Given the description of an element on the screen output the (x, y) to click on. 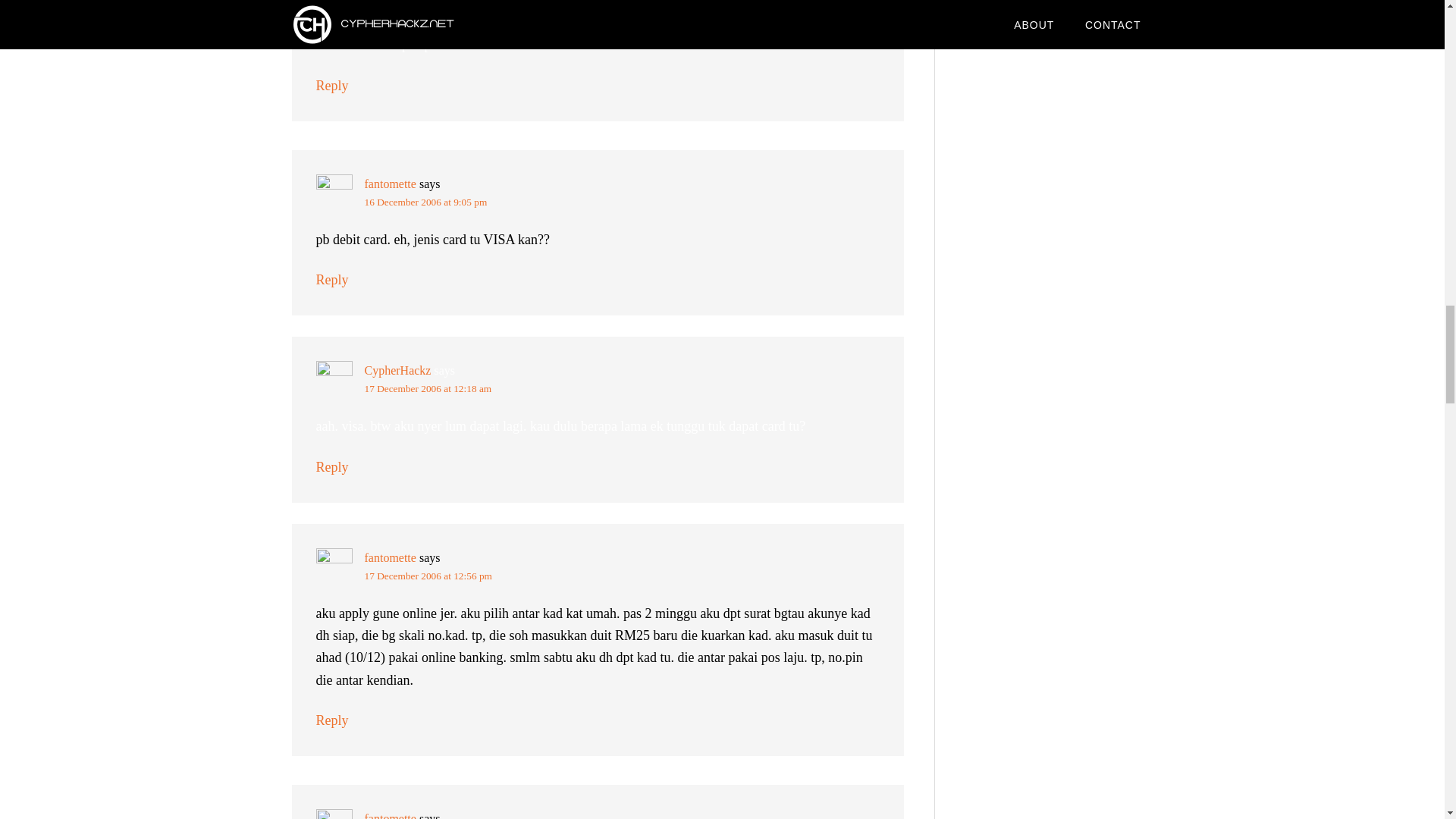
Reply (331, 85)
16 December 2006 at 9:05 pm (425, 202)
16 December 2006 at 6:50 pm (425, 7)
fantomette (389, 183)
